Given the description of an element on the screen output the (x, y) to click on. 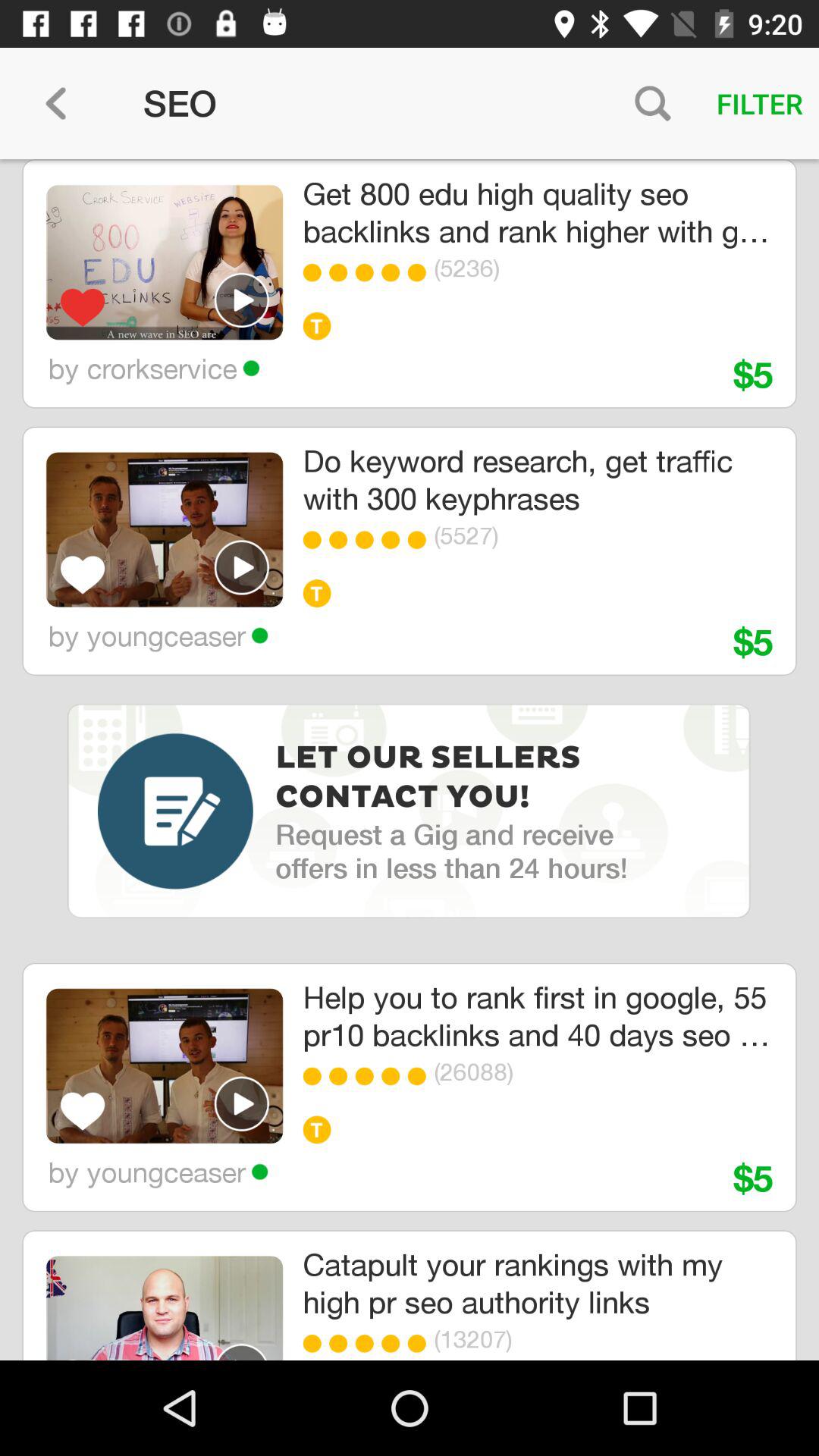
turn off icon next to the help you to icon (164, 1065)
